Given the description of an element on the screen output the (x, y) to click on. 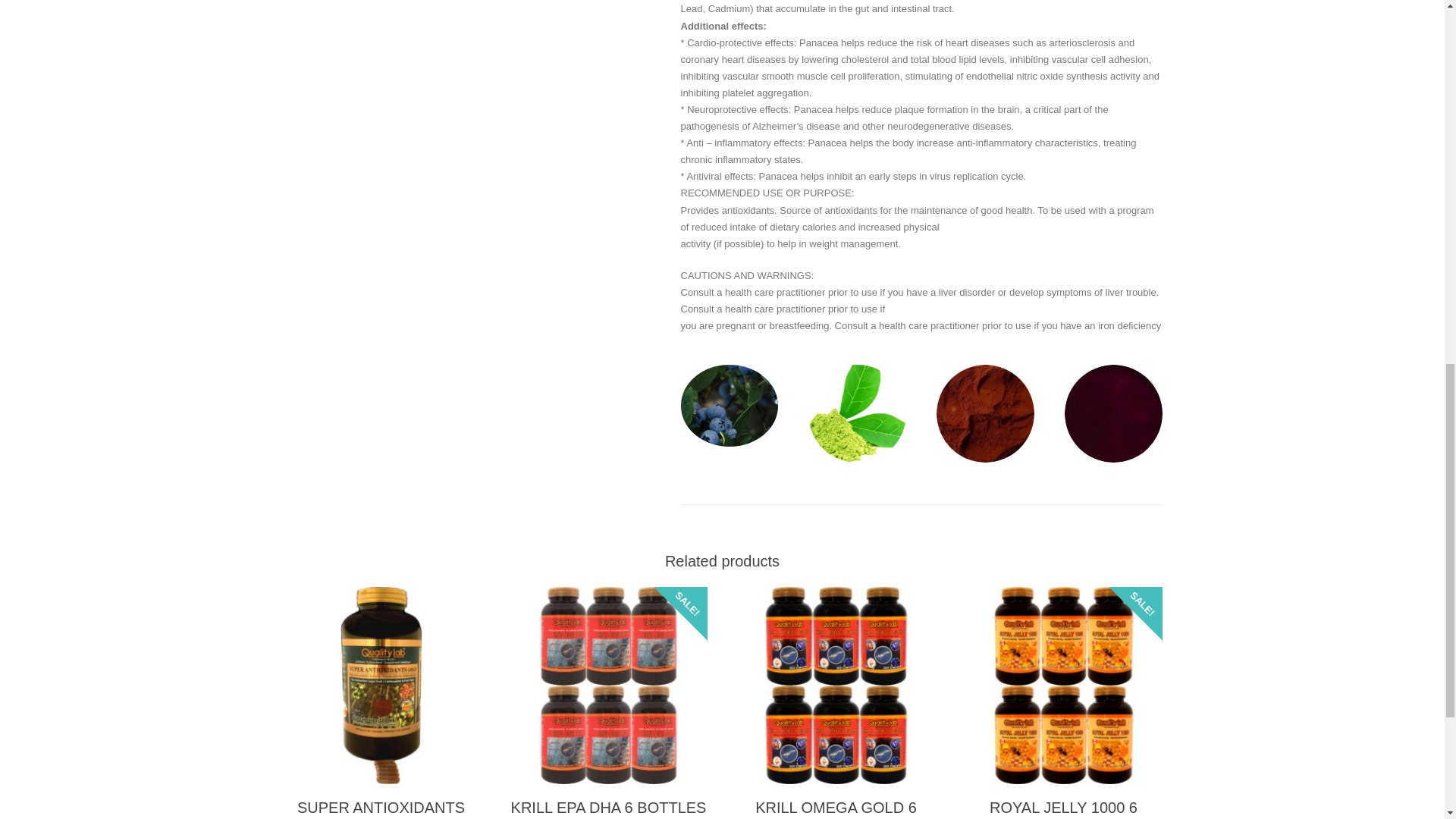
pg5 (729, 405)
pg6 (856, 413)
pg7 (984, 413)
pg8 (1112, 413)
